Given the description of an element on the screen output the (x, y) to click on. 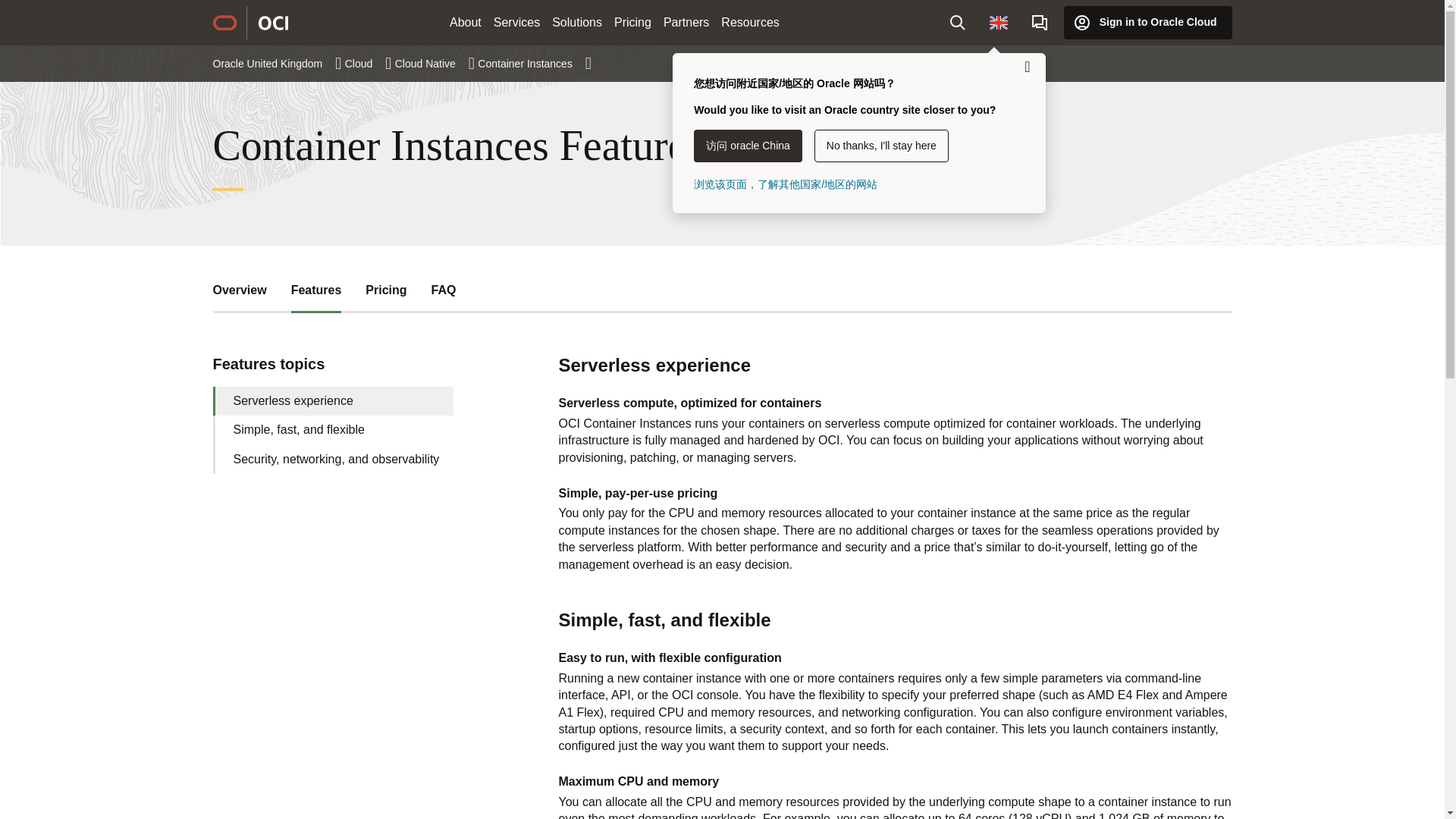
Solutions (577, 22)
Overview (239, 290)
No thanks, I'll stay here (881, 145)
Oracle United Kingdom (276, 63)
Container Instances (534, 63)
Services (516, 22)
Resources (749, 22)
Services (516, 22)
Solutions (577, 22)
About (465, 22)
Partners (686, 22)
Cloud (368, 63)
Sign in to Oracle Cloud (1147, 22)
Pricing (633, 22)
Cloud Native (434, 63)
